Given the description of an element on the screen output the (x, y) to click on. 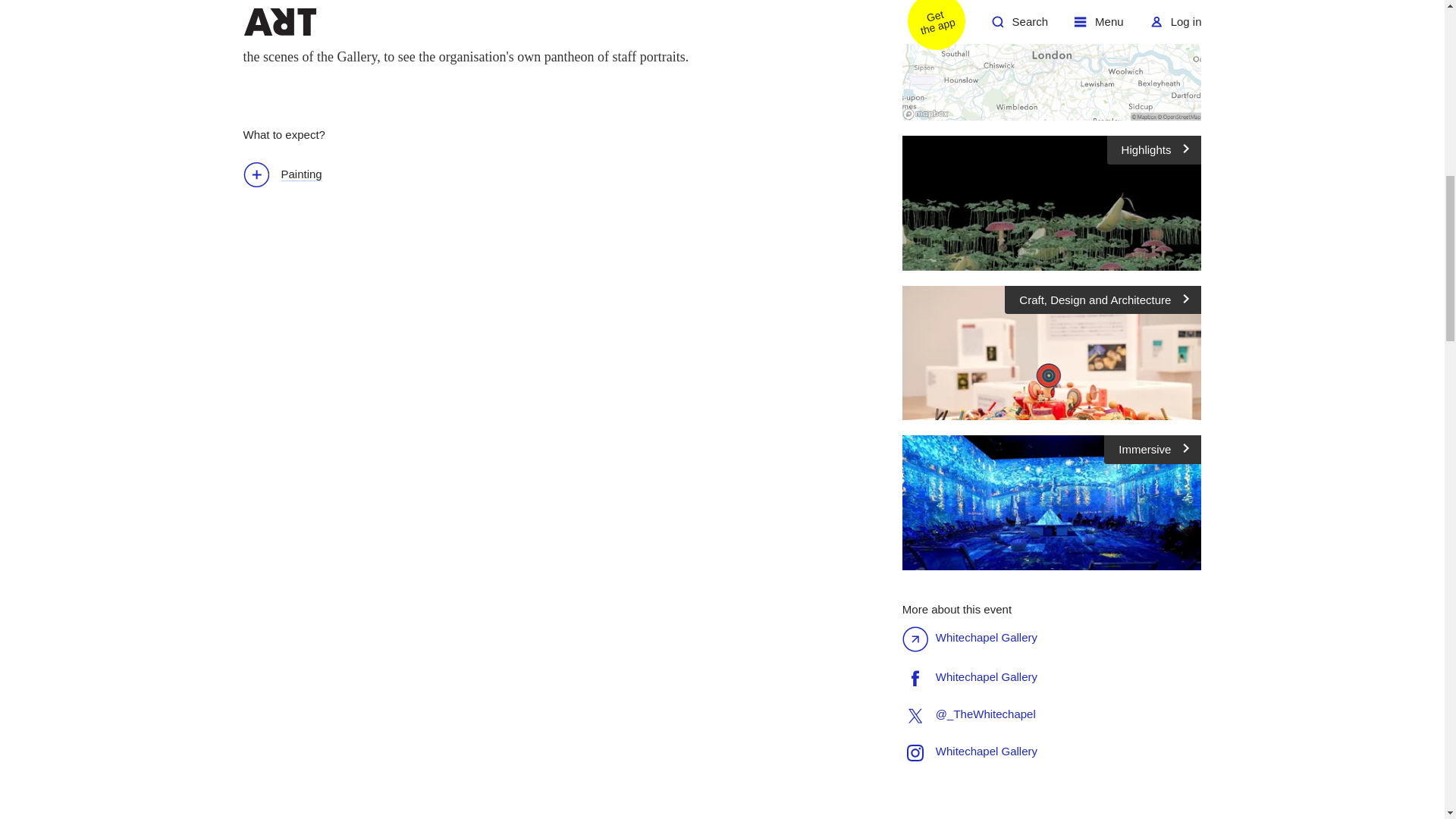
Painting (289, 176)
